Given the description of an element on the screen output the (x, y) to click on. 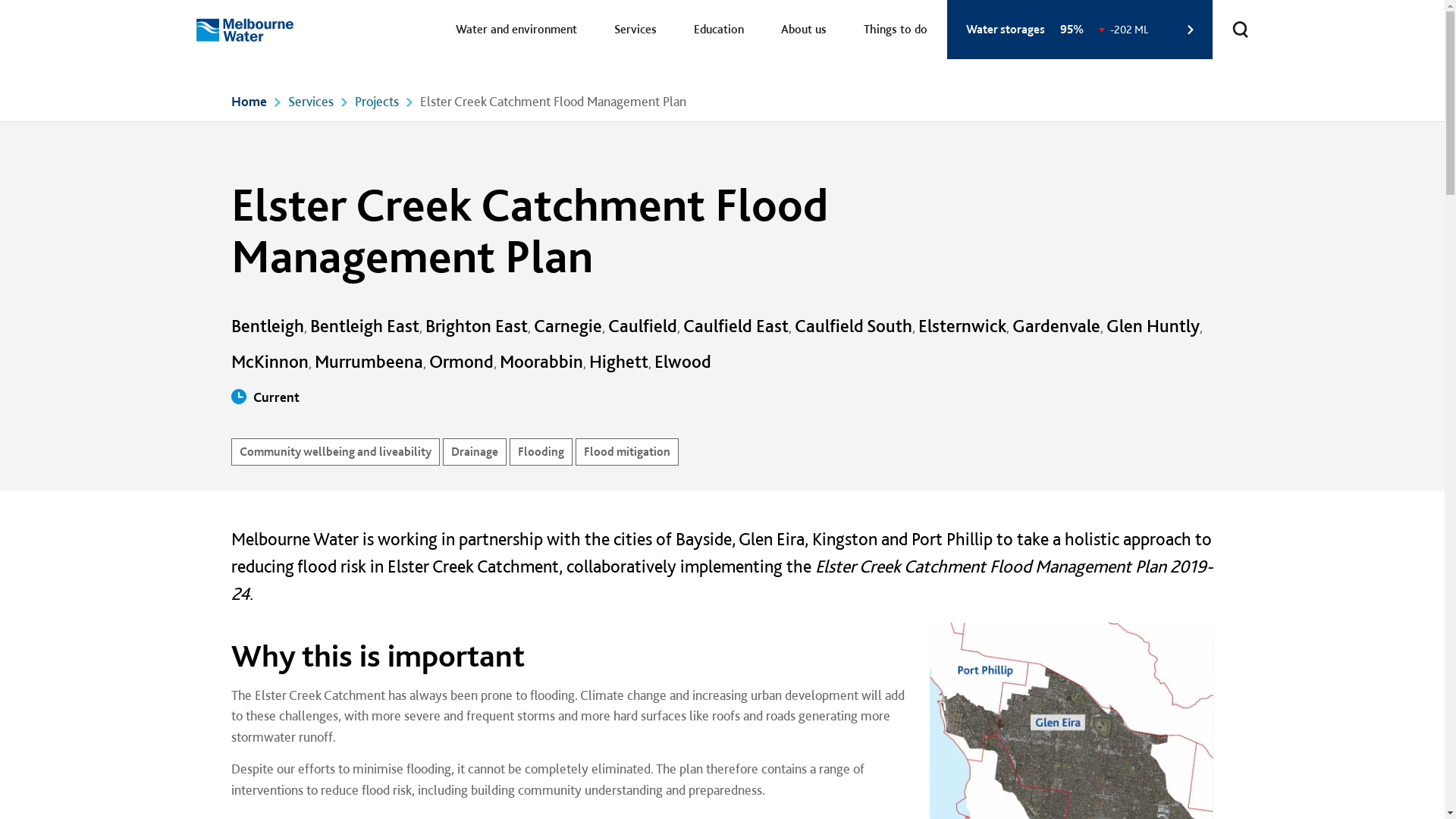
Projects Element type: text (376, 101)
Water and environment Element type: text (515, 31)
Flood mitigation Element type: text (625, 452)
Ormond Element type: text (461, 361)
Caulfield South Element type: text (853, 325)
Bentleigh East Element type: text (363, 325)
Community wellbeing and liveability Element type: text (334, 452)
Carnegie Element type: text (567, 325)
Flooding Element type: text (540, 452)
Murrumbeena Element type: text (367, 361)
Home Element type: text (248, 101)
About us Element type: text (802, 31)
McKinnon Element type: text (268, 361)
Education Element type: text (718, 31)
Gardenvale Element type: text (1055, 325)
Toggle search Element type: text (1239, 29)
Things to do Element type: text (895, 31)
Moorabbin Element type: text (540, 361)
Caulfield East Element type: text (734, 325)
Services Element type: text (634, 31)
Services Element type: text (310, 101)
Drainage Element type: text (474, 452)
Caulfield Element type: text (642, 325)
Elwood Element type: text (681, 361)
Brighton East Element type: text (475, 325)
Bentleigh Element type: text (266, 325)
Elsternwick Element type: text (961, 325)
Glen Huntly Element type: text (1151, 325)
Highett Element type: text (617, 361)
